Given the description of an element on the screen output the (x, y) to click on. 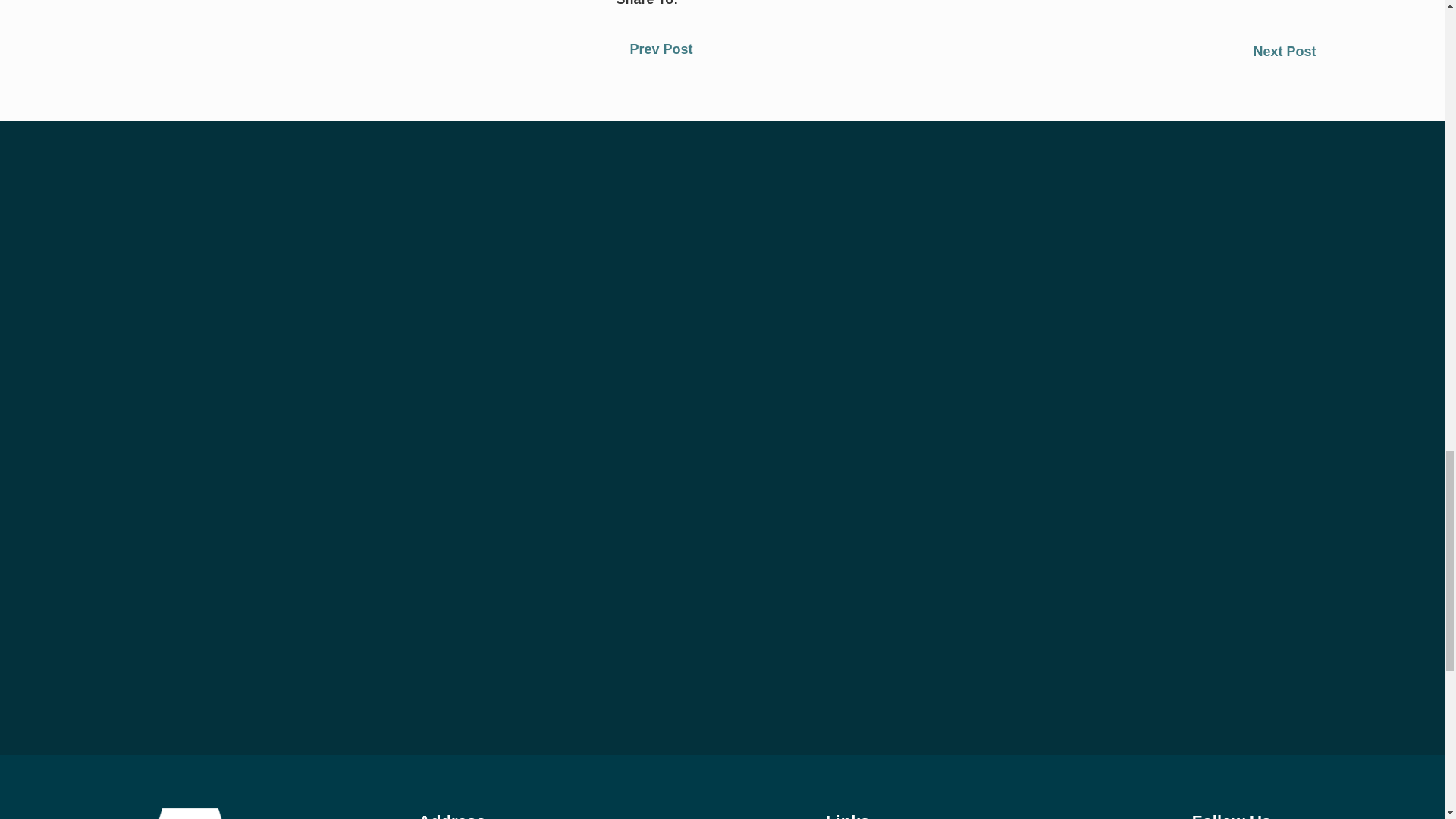
Home (190, 813)
